Given the description of an element on the screen output the (x, y) to click on. 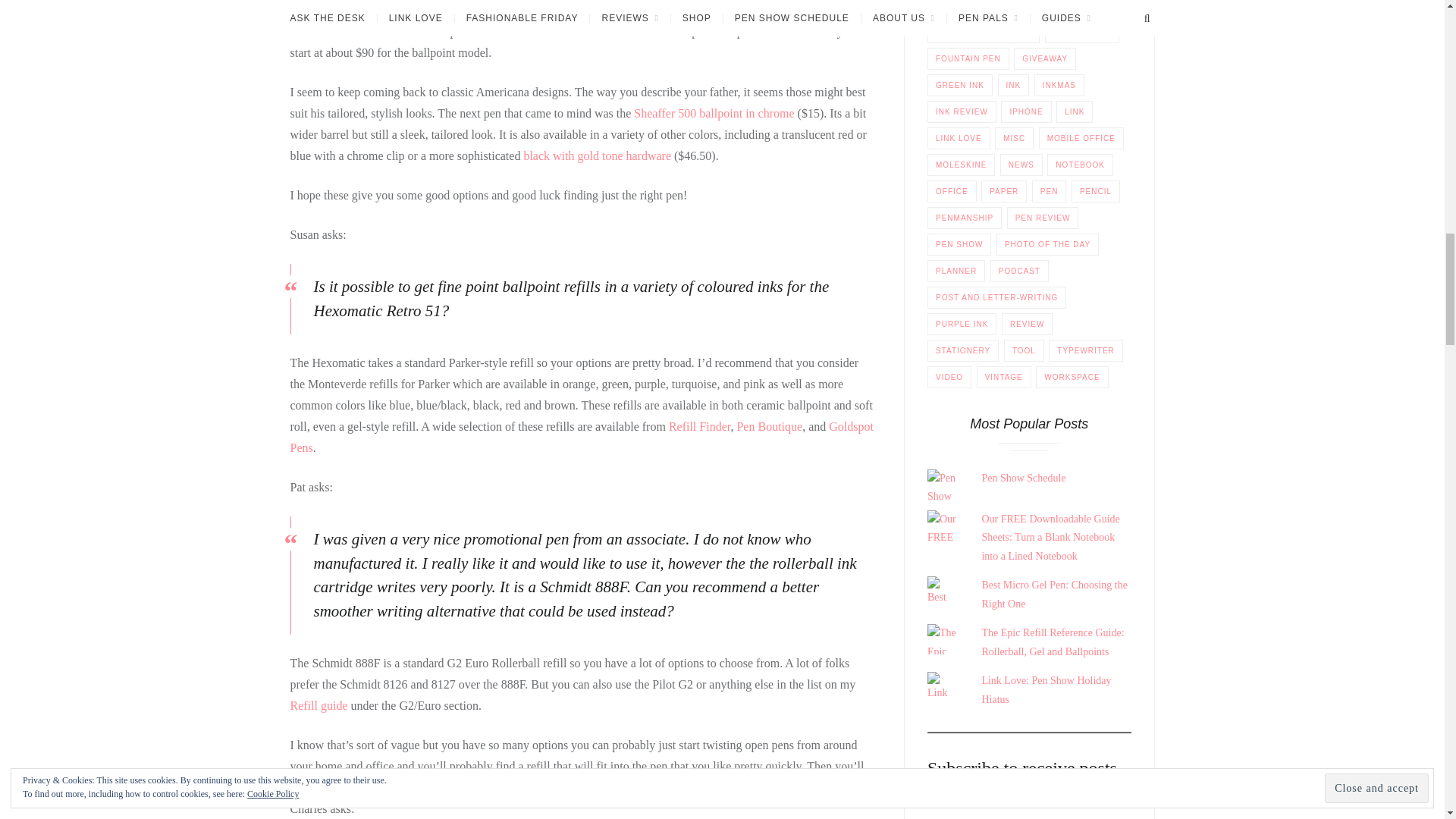
Goldspot Pens (580, 437)
Pen Show Schedule (1023, 477)
Refill guide (318, 705)
Sheaffer 500 ballpoint in chrome (713, 113)
Pen Boutique (769, 426)
Best Micro Gel Pen: Choosing the Right One (1053, 594)
Refill Finder (699, 426)
black with gold tone hardware (596, 155)
